Given the description of an element on the screen output the (x, y) to click on. 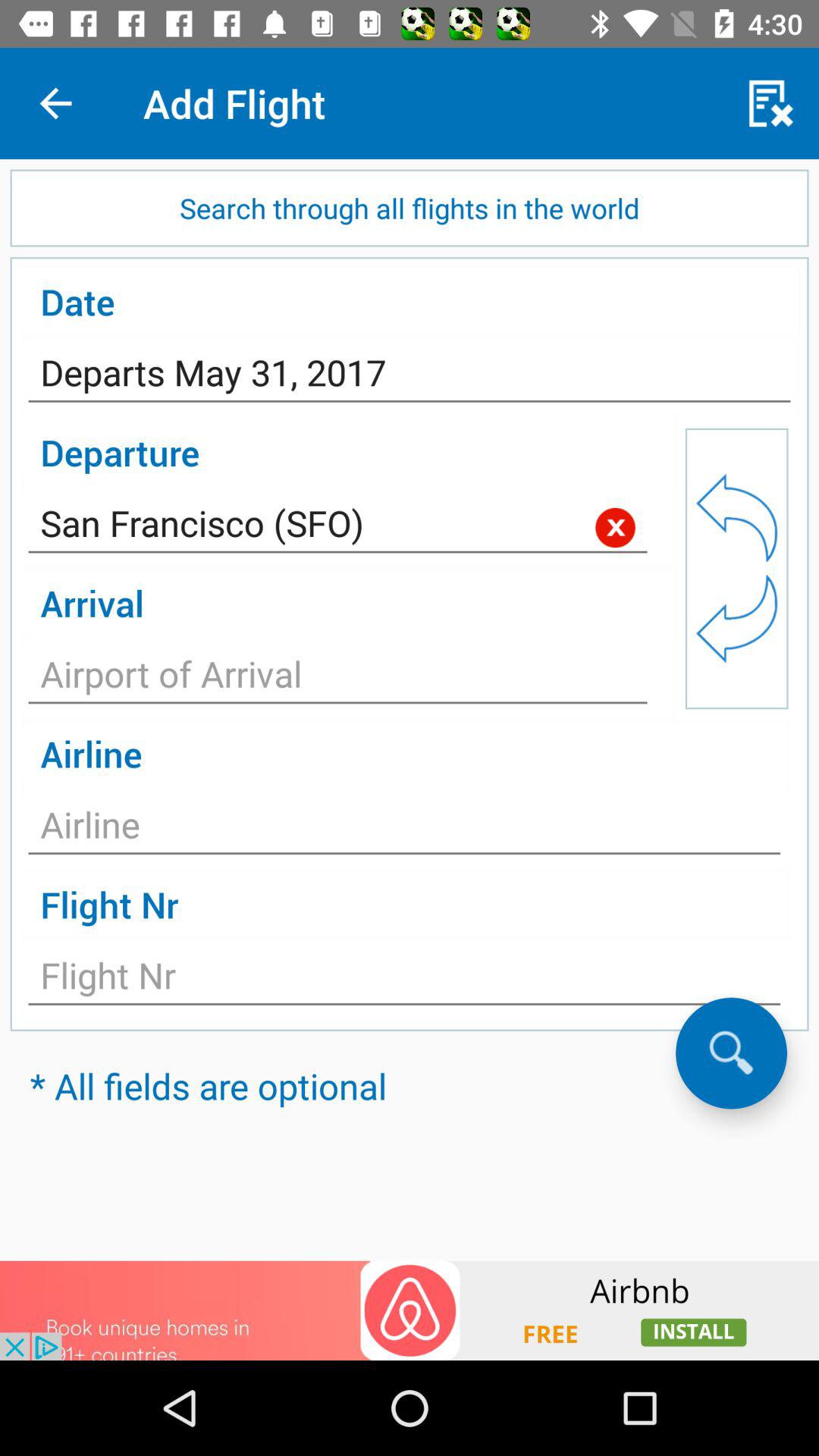
click on the box below arrival which says airport of arrival (337, 678)
